Given the description of an element on the screen output the (x, y) to click on. 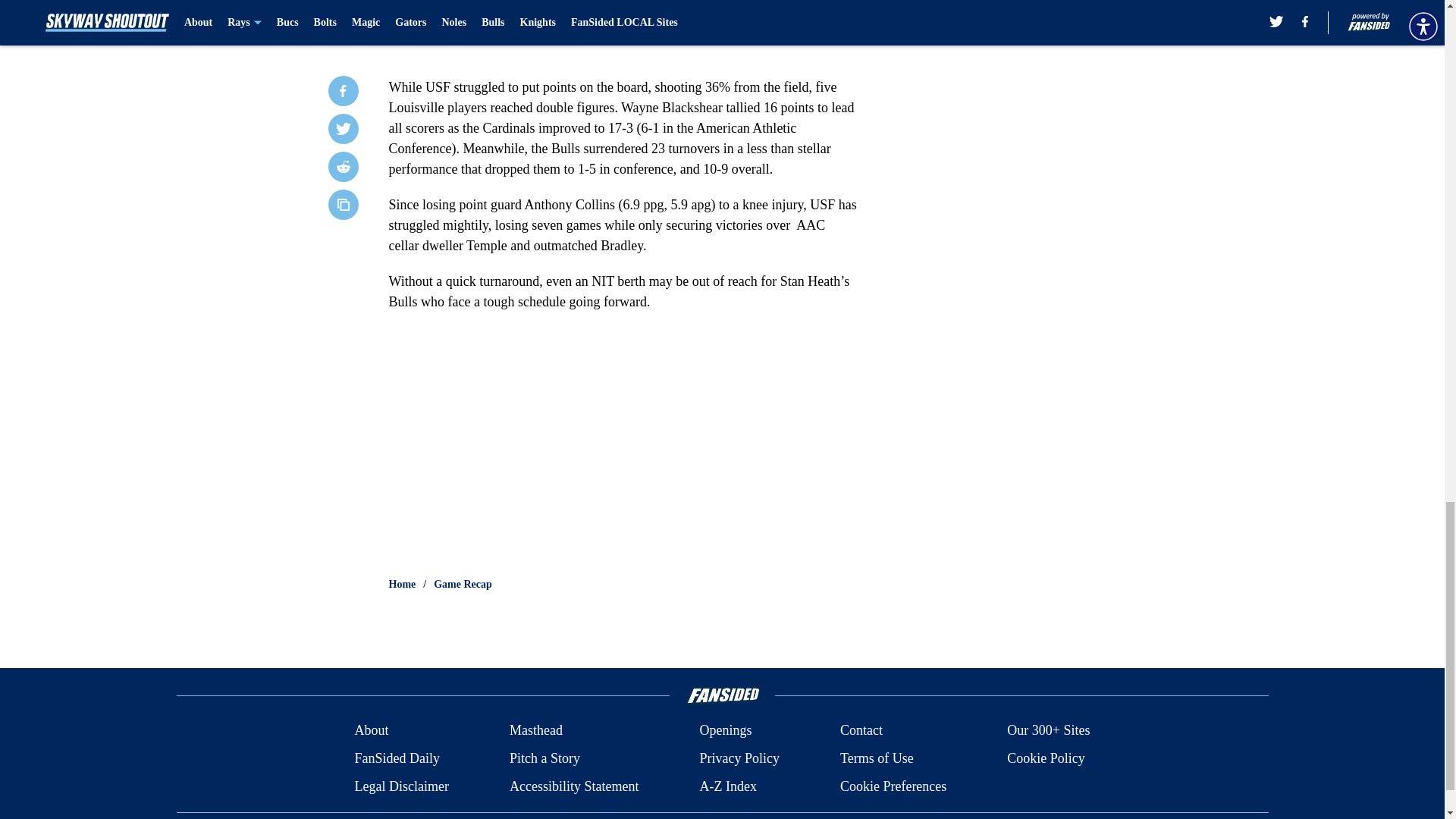
Home (401, 584)
Privacy Policy (738, 758)
Cookie Policy (1045, 758)
Openings (724, 730)
About (370, 730)
Masthead (535, 730)
Contact (861, 730)
Legal Disclaimer (400, 786)
Pitch a Story (544, 758)
Terms of Use (877, 758)
FanSided Daily (396, 758)
Accessibility Statement (574, 786)
Game Recap (462, 584)
